Given the description of an element on the screen output the (x, y) to click on. 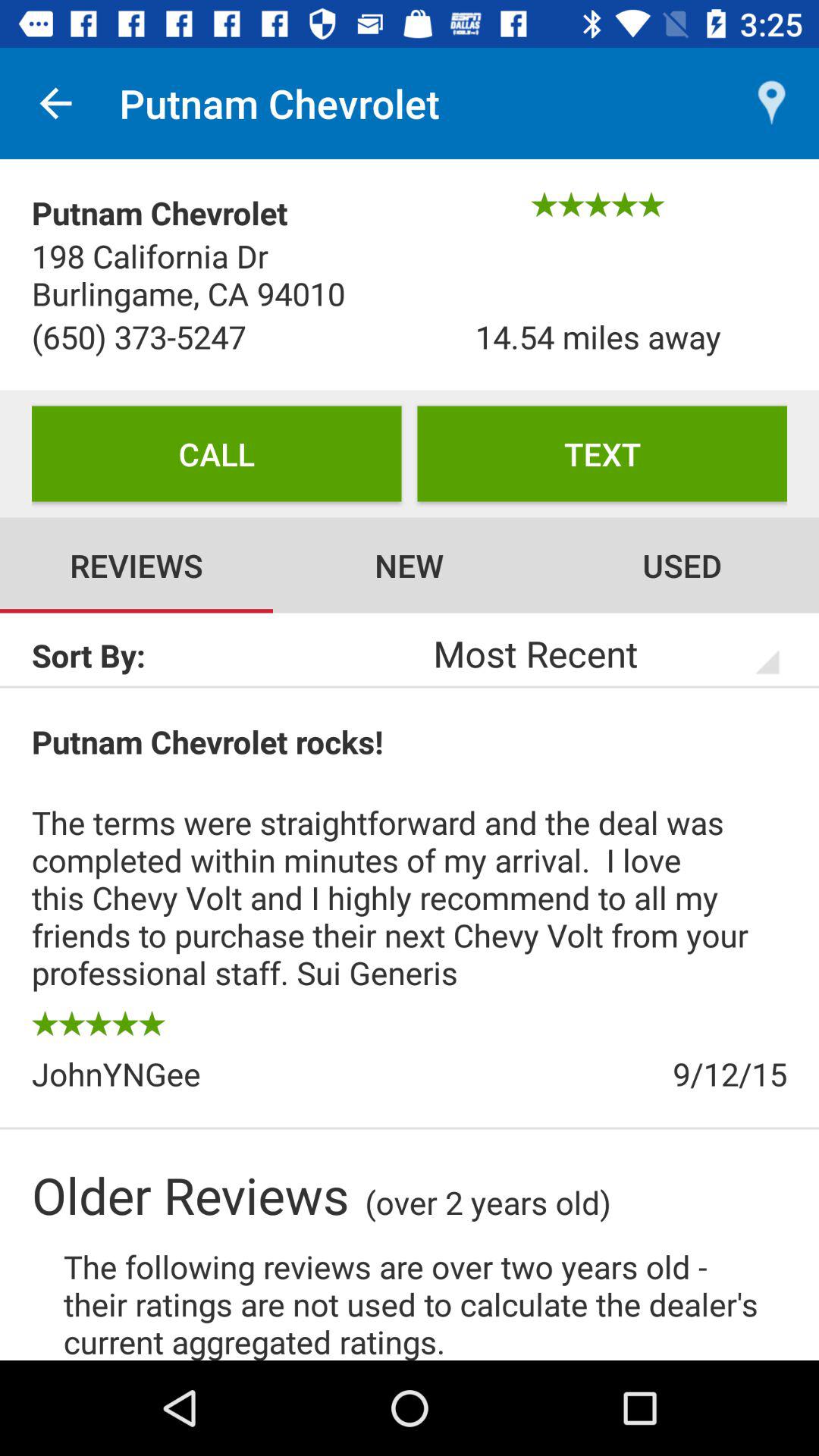
turn off the item above the johnyngee (98, 1023)
